Given the description of an element on the screen output the (x, y) to click on. 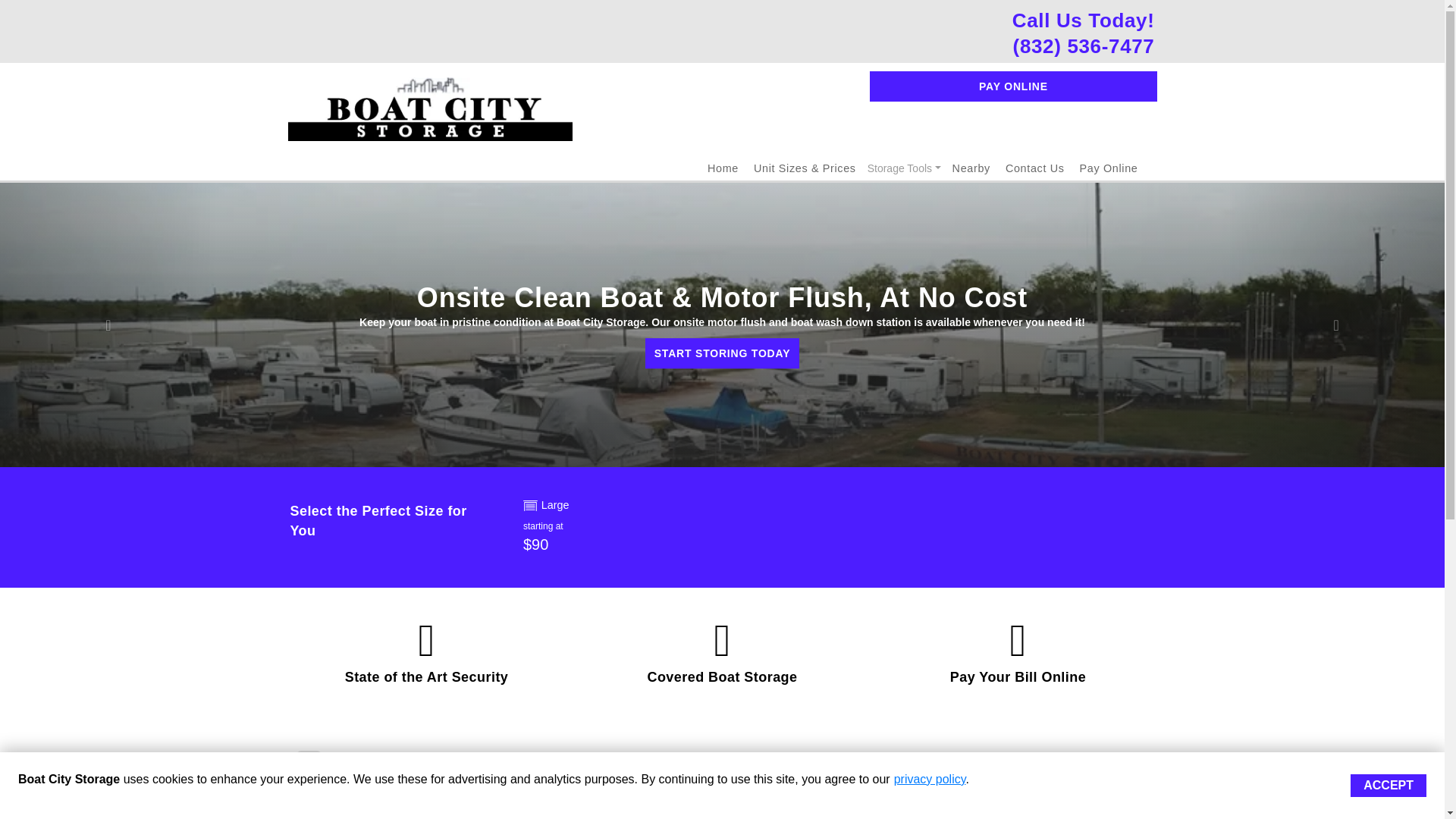
Contact Us (1035, 168)
Pay Your Bill Online (1018, 676)
Home (722, 168)
START STORING TODAY (722, 353)
PAY ONLINE (1012, 86)
Storage Tools (903, 168)
Covered Boat Storage (721, 676)
privacy policy (929, 779)
ACCEPT (1388, 784)
Enter fullscreen (307, 811)
